Given the description of an element on the screen output the (x, y) to click on. 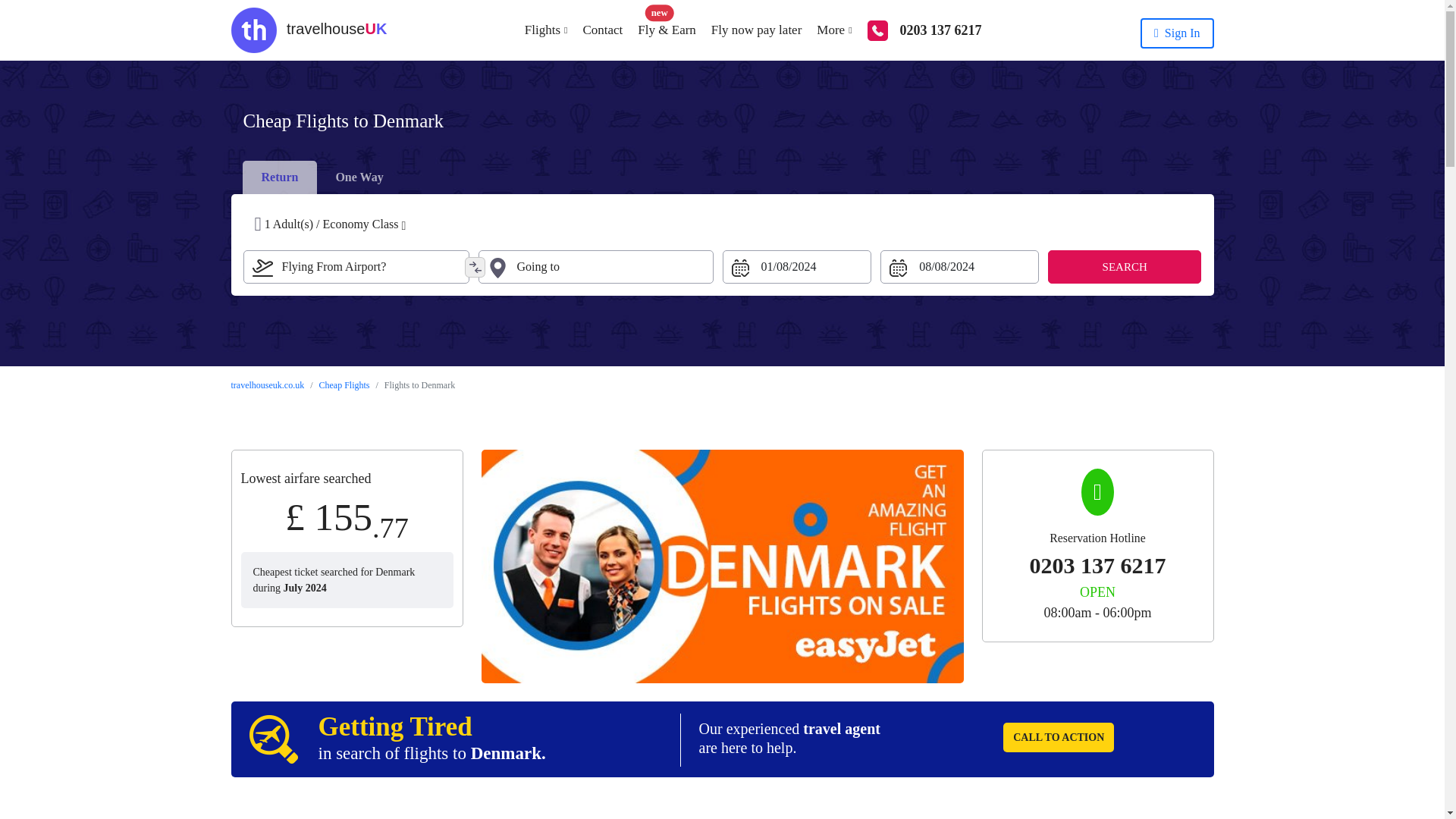
0203 137 6217 (916, 29)
Contact (595, 30)
travelhouseUK (308, 30)
Flights (538, 30)
Search (1125, 266)
Return (247, 165)
OneWay (247, 165)
More (826, 30)
Fly now pay later (748, 30)
